Given the description of an element on the screen output the (x, y) to click on. 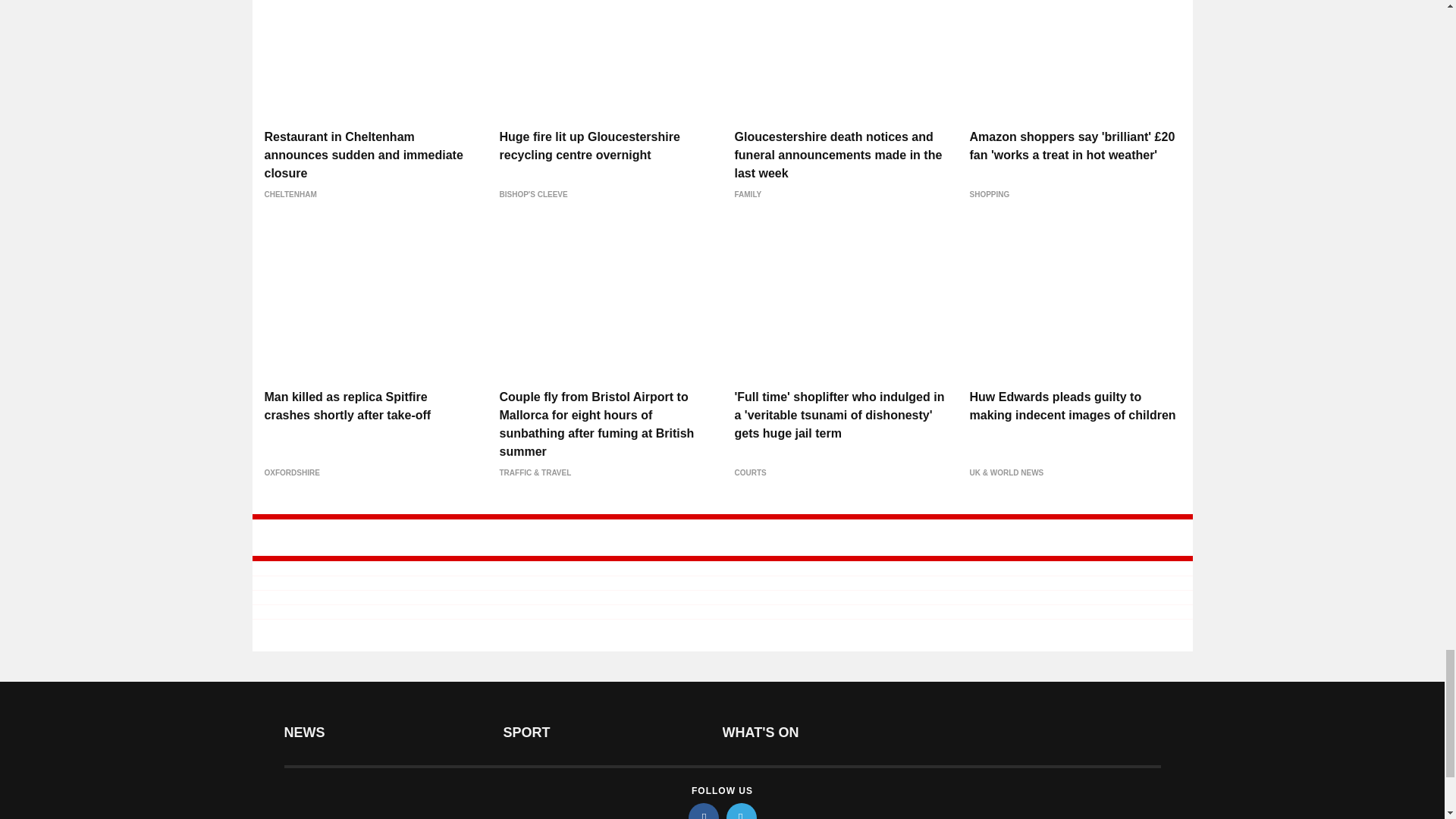
twitter (741, 811)
facebook (703, 811)
